Given the description of an element on the screen output the (x, y) to click on. 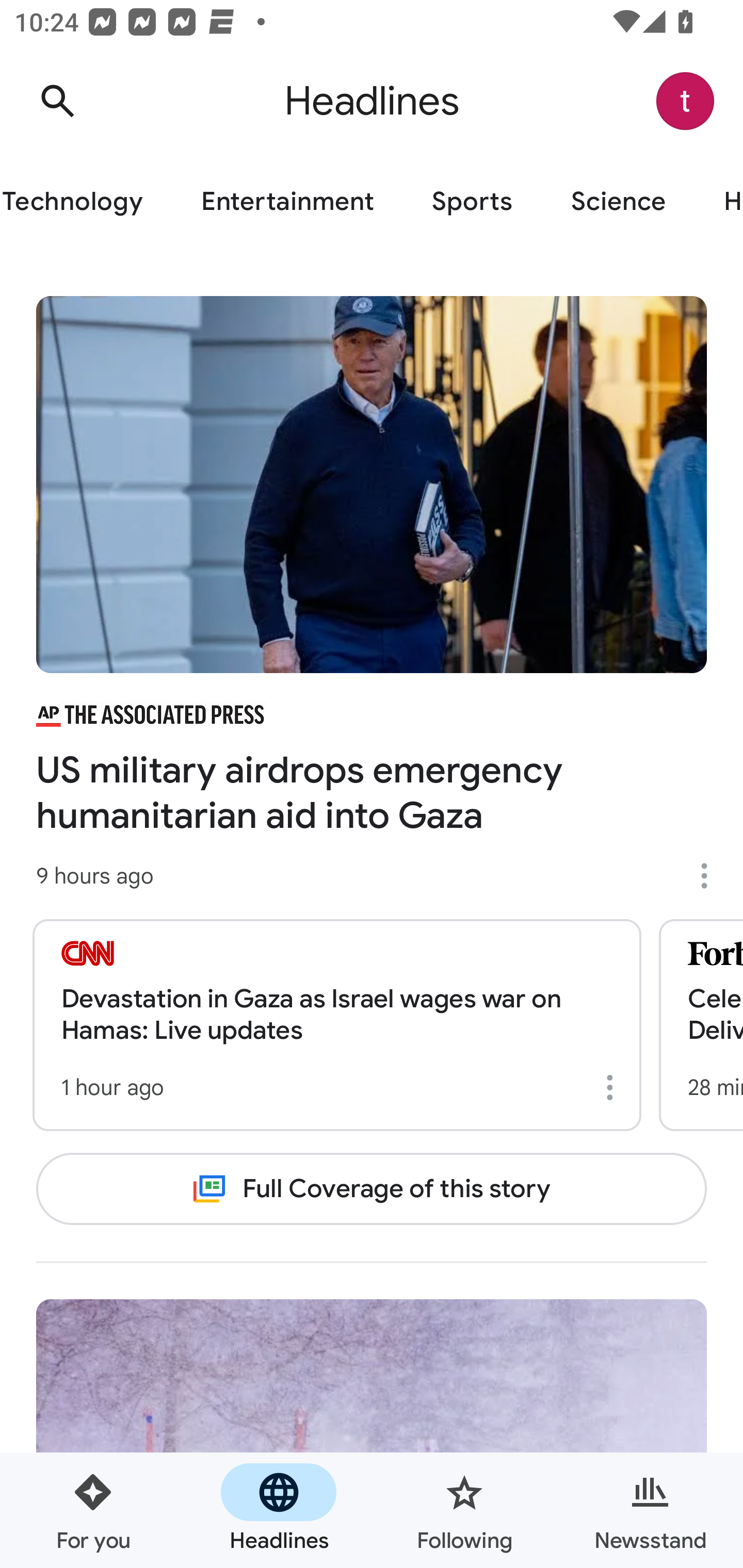
Search (57, 100)
Technology (85, 202)
Entertainment (286, 202)
Sports (471, 202)
Science (617, 202)
More options (711, 875)
More options (613, 1086)
Full Coverage of this story (371, 1188)
For you (92, 1509)
Headlines (278, 1509)
Following (464, 1509)
Newsstand (650, 1509)
